Given the description of an element on the screen output the (x, y) to click on. 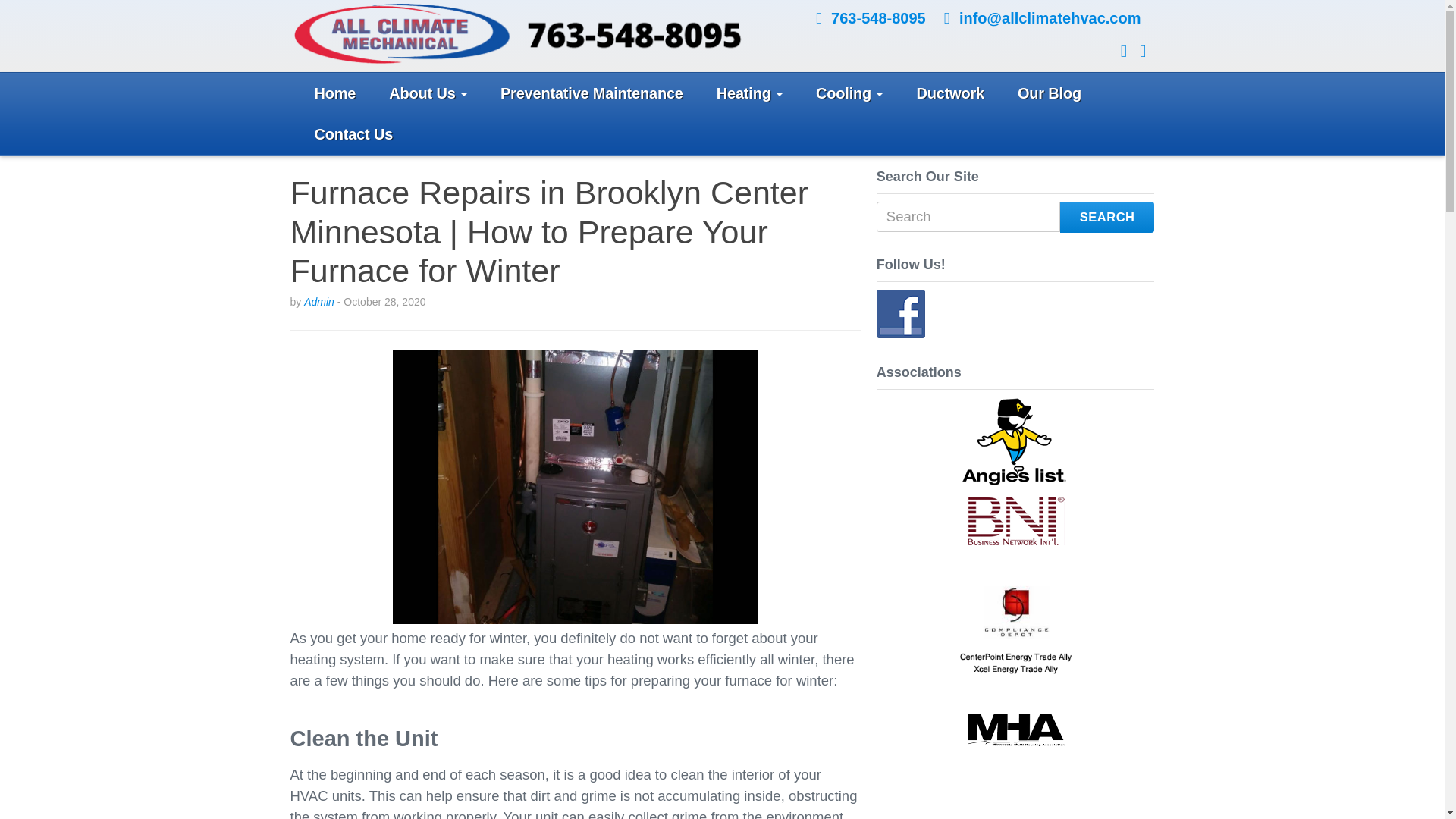
Home (334, 93)
763-548-8095 (878, 17)
About Us (427, 93)
About Us (427, 93)
Heating (749, 93)
Home (334, 93)
Preventative Maintenance (591, 93)
Heating (749, 93)
Preventative Maintenance (591, 93)
